Given the description of an element on the screen output the (x, y) to click on. 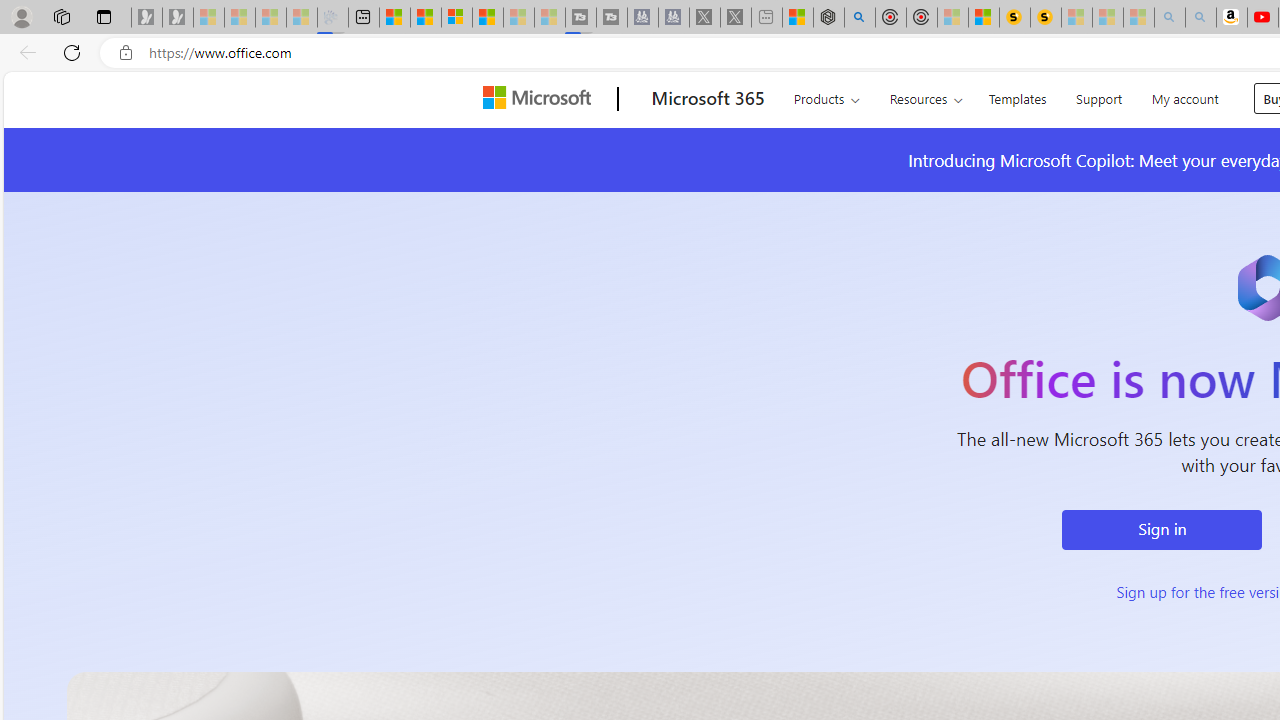
Wildlife - MSN (797, 17)
Templates (1017, 96)
Support (1099, 96)
Microsoft (541, 99)
New tab - Sleeping (766, 17)
My account (1184, 96)
Microsoft 365 (707, 99)
amazon - Search - Sleeping (1169, 17)
